Given the description of an element on the screen output the (x, y) to click on. 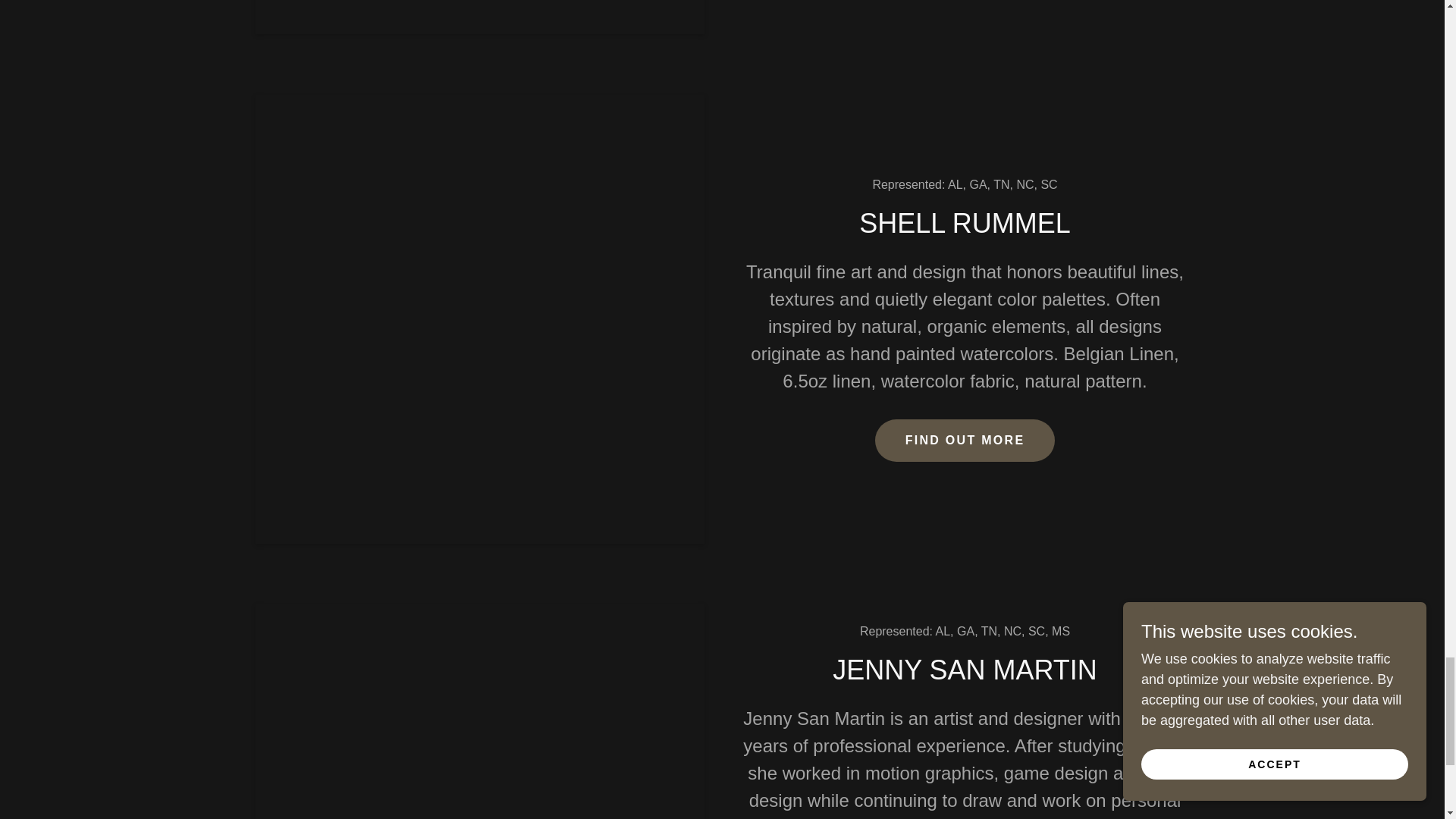
FIND OUT MORE (965, 440)
